Given the description of an element on the screen output the (x, y) to click on. 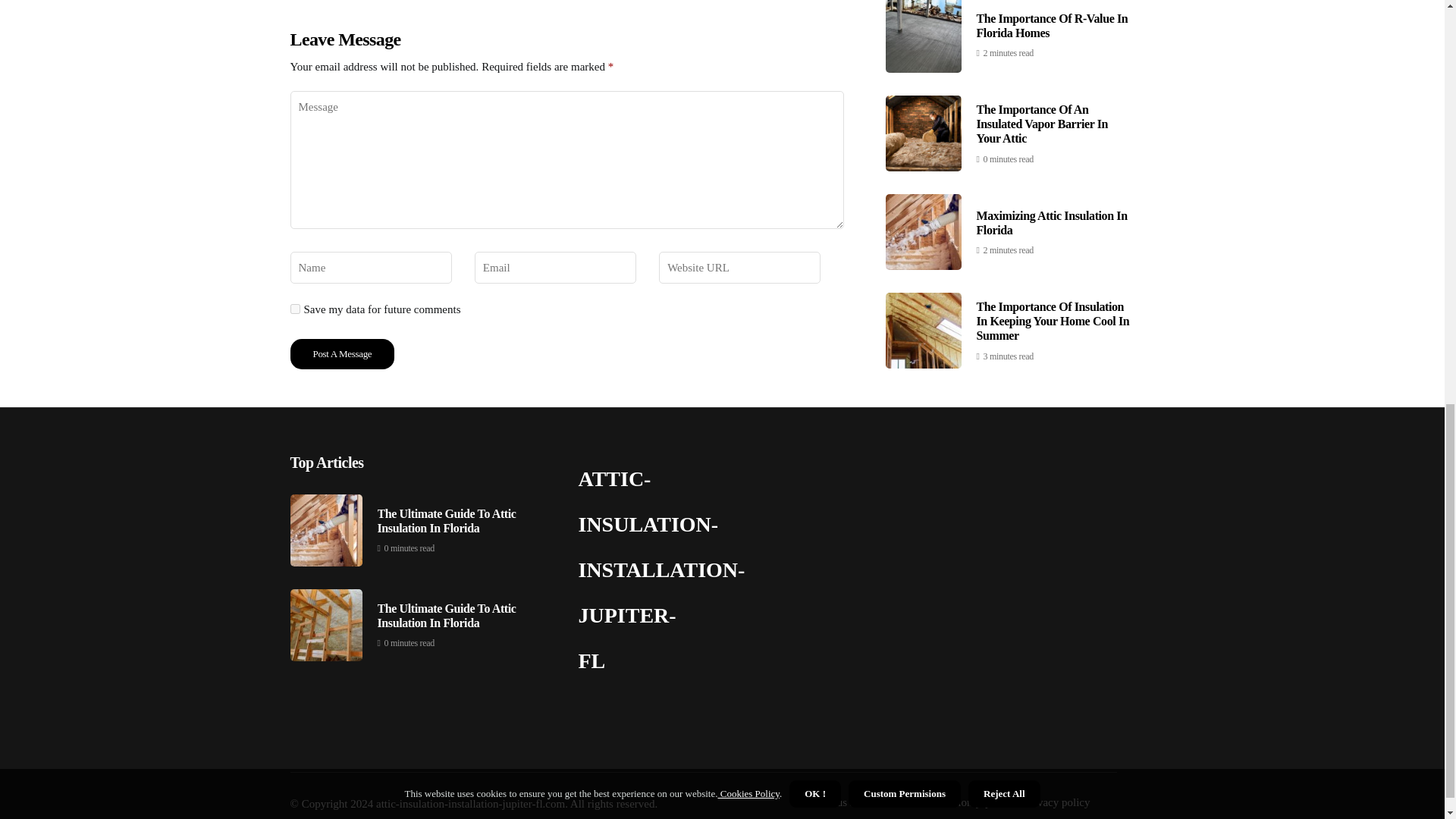
Post a Message (341, 354)
Post a Message (341, 354)
yes (294, 308)
Maximizing Attic Insulation In Florida (1051, 7)
